Given the description of an element on the screen output the (x, y) to click on. 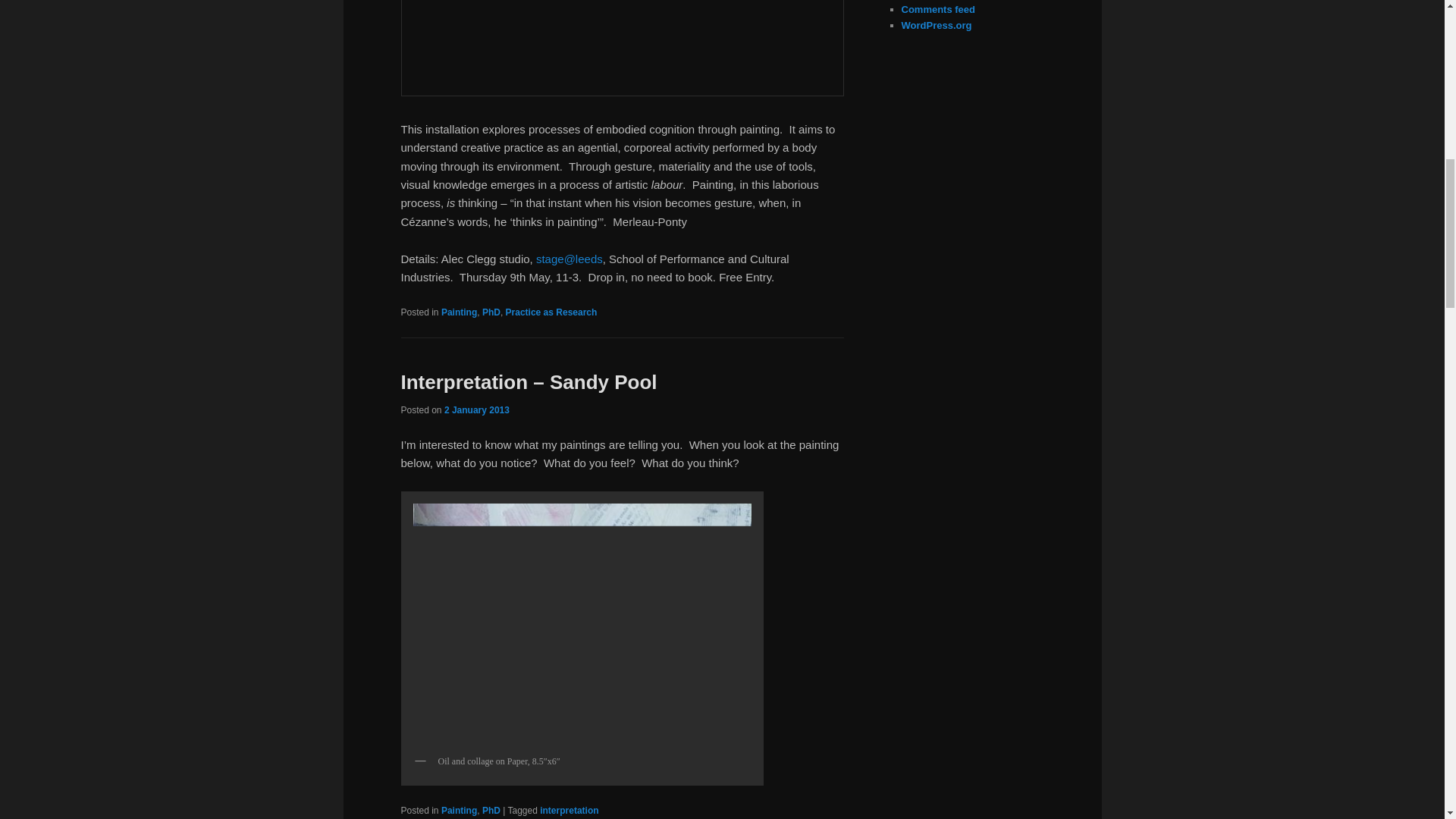
PhD (490, 810)
interpretation (569, 810)
Painting (459, 810)
PhD (490, 312)
Practice as Research (550, 312)
11:51 am (476, 409)
Painting (459, 312)
2 January 2013 (476, 409)
